Given the description of an element on the screen output the (x, y) to click on. 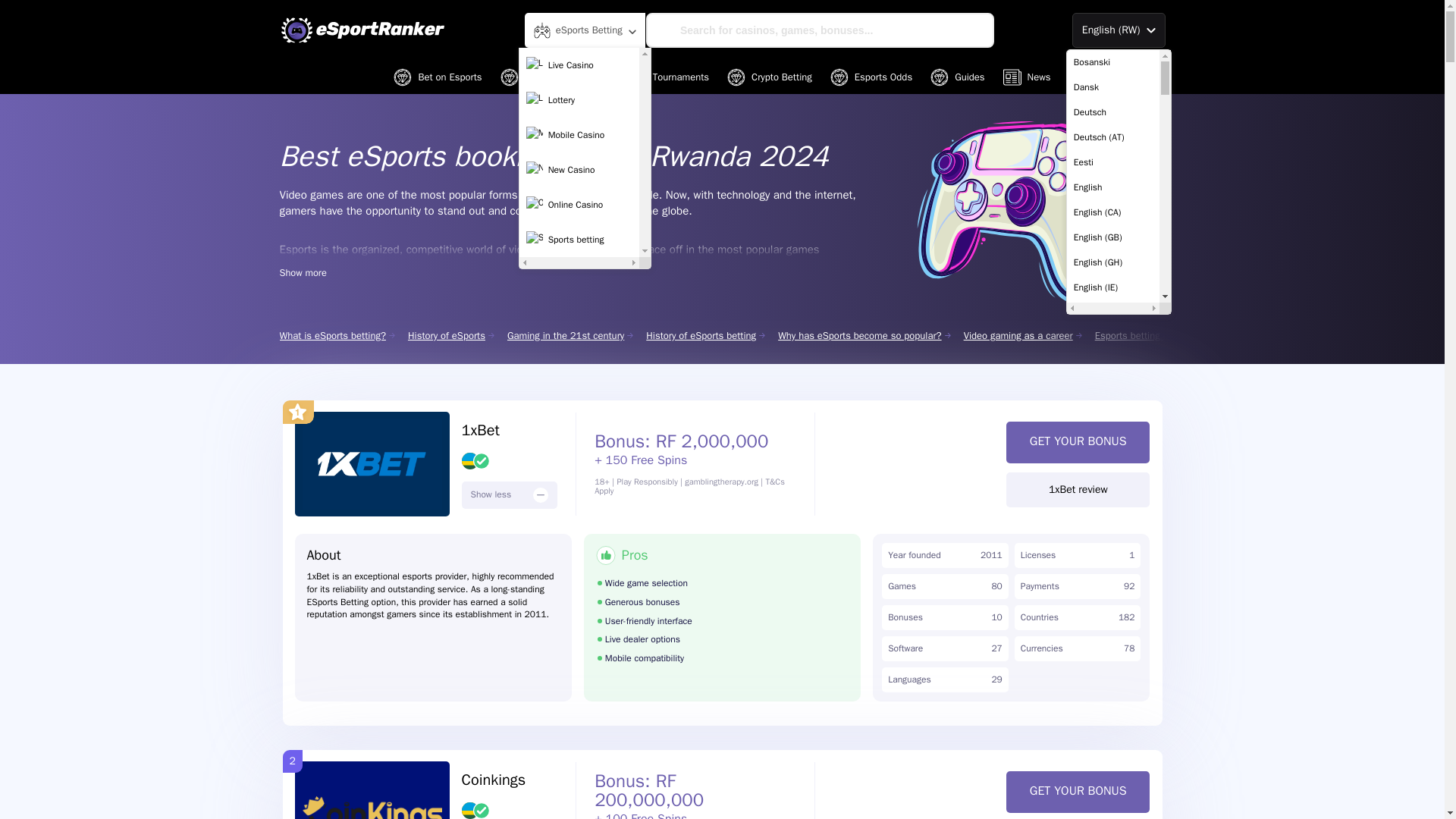
Bosanski (1113, 62)
Deutsch (1113, 112)
New Casino (579, 169)
Dansk (1113, 87)
Eesti (1113, 162)
Hrvatski (1113, 809)
Lottery (579, 99)
Sports betting (579, 239)
Online Casino (579, 204)
Mobile Casino (579, 134)
